Given the description of an element on the screen output the (x, y) to click on. 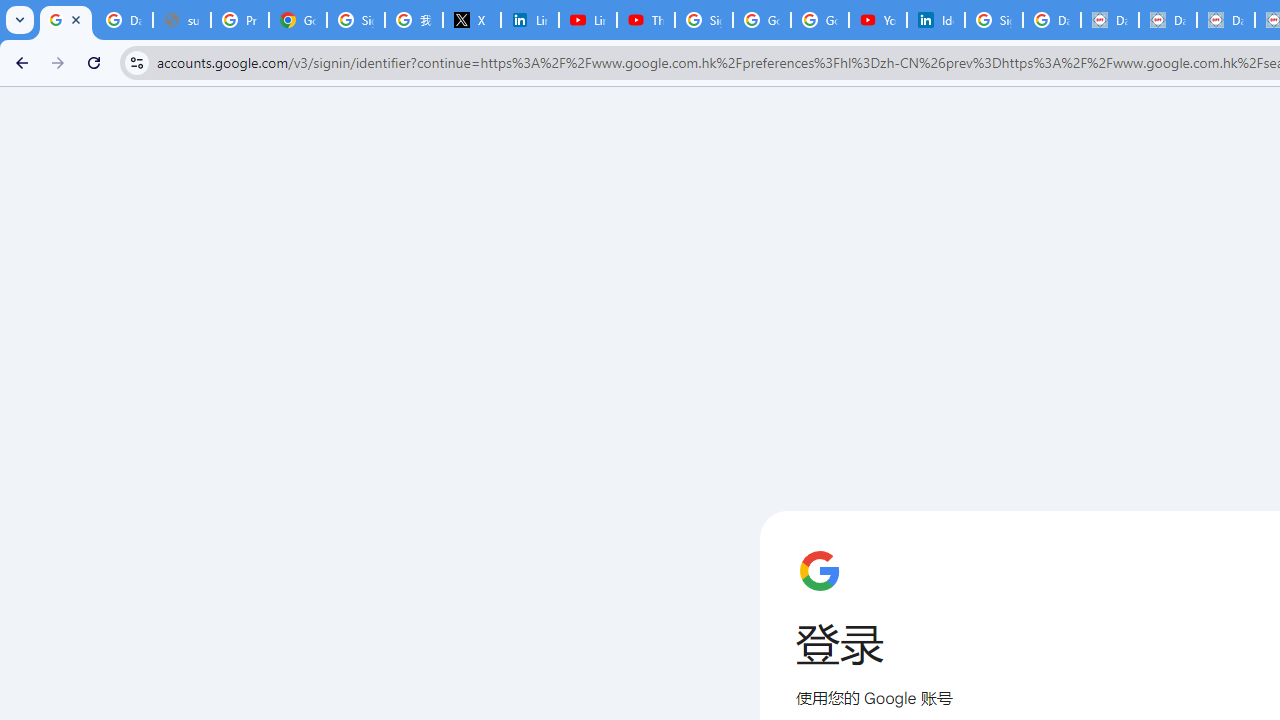
Data Privacy Framework (1167, 20)
X (471, 20)
LinkedIn Privacy Policy (529, 20)
Sign in - Google Accounts (355, 20)
LinkedIn - YouTube (587, 20)
